Given the description of an element on the screen output the (x, y) to click on. 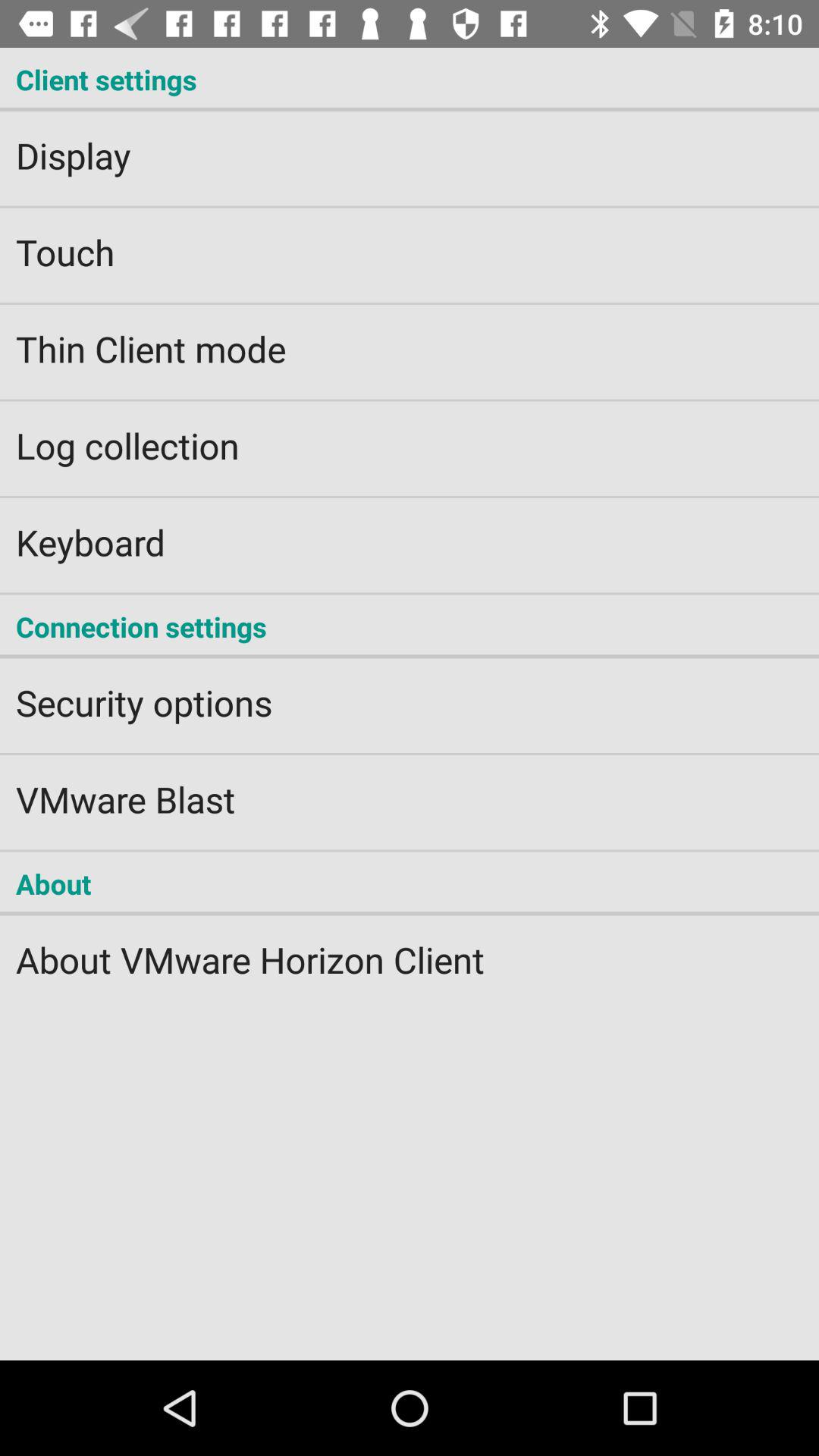
press the connection settings icon (409, 626)
